Given the description of an element on the screen output the (x, y) to click on. 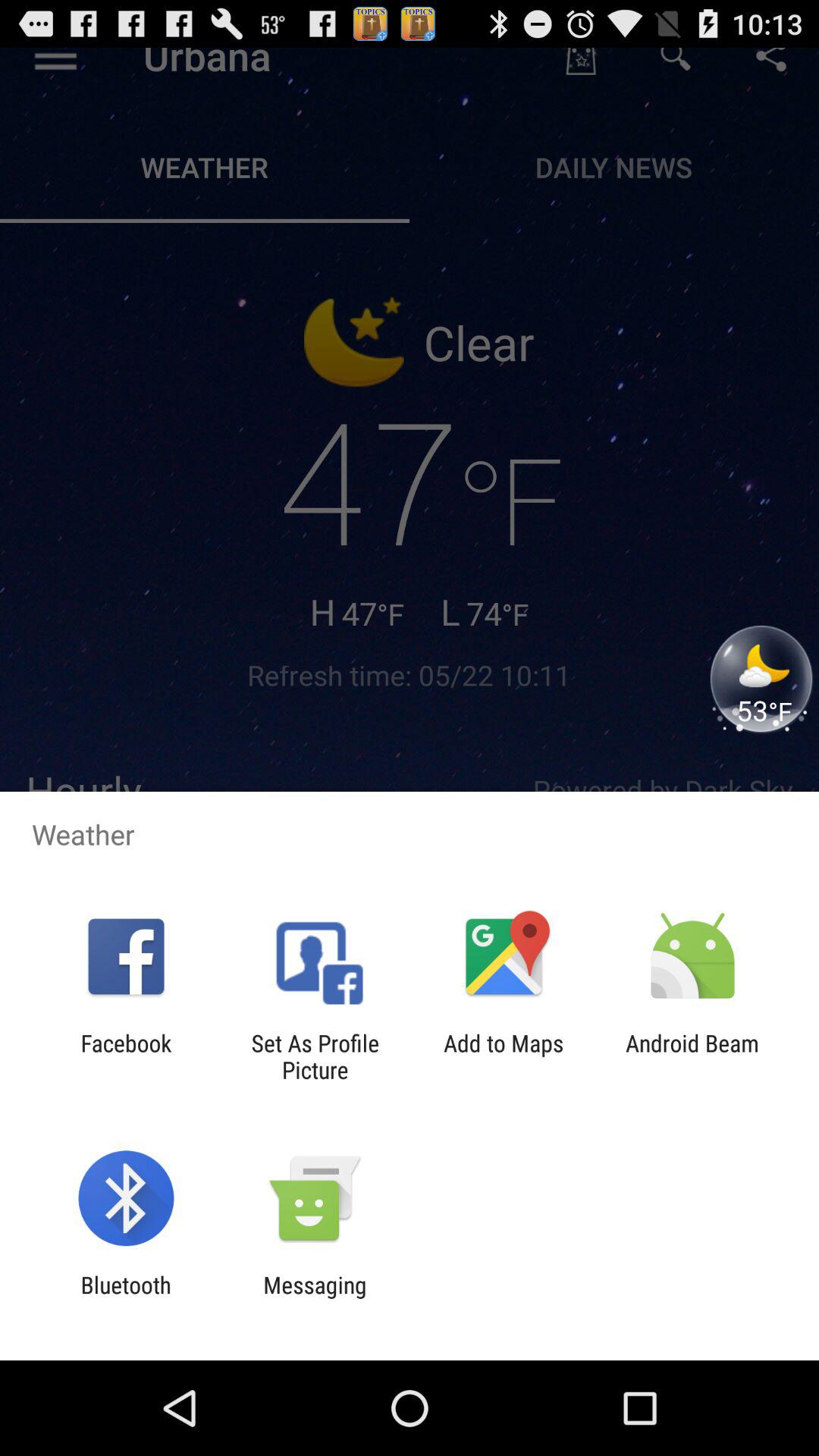
select app next to facebook app (314, 1056)
